Given the description of an element on the screen output the (x, y) to click on. 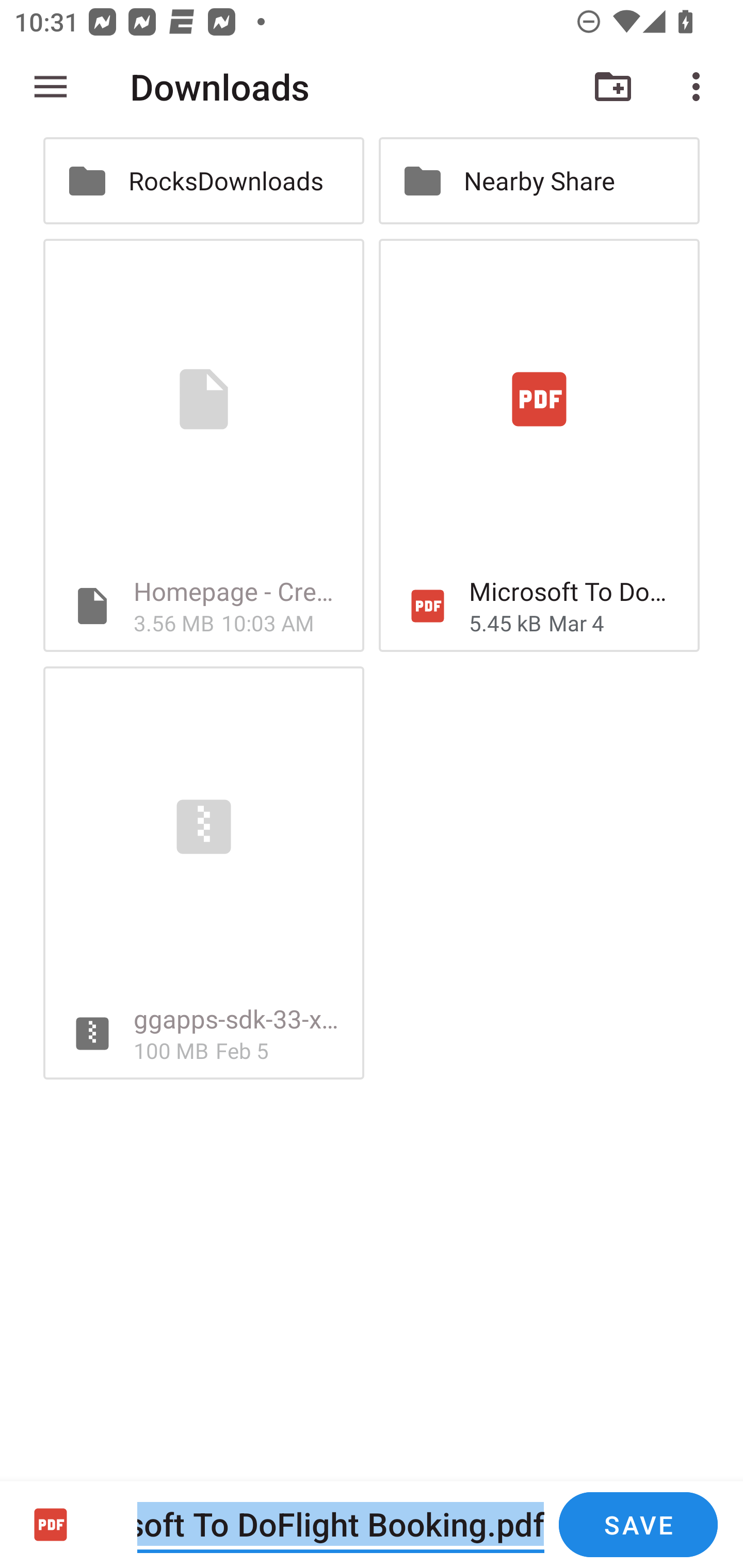
Show roots (50, 86)
New folder (612, 86)
More options (699, 86)
RocksDownloads (203, 180)
Nearby Share (538, 180)
Homepage - Creative Commons 3.56 MB 10:03 AM (203, 445)
Microsoft To DoFlight Booking.pdf 5.45 kB Mar 4 (538, 445)
ggapps-sdk-33-x86_64-20231003.zip 100 MB Feb 5 (203, 872)
SAVE (637, 1524)
Microsoft To DoFlight Booking.pdf (340, 1523)
